Given the description of an element on the screen output the (x, y) to click on. 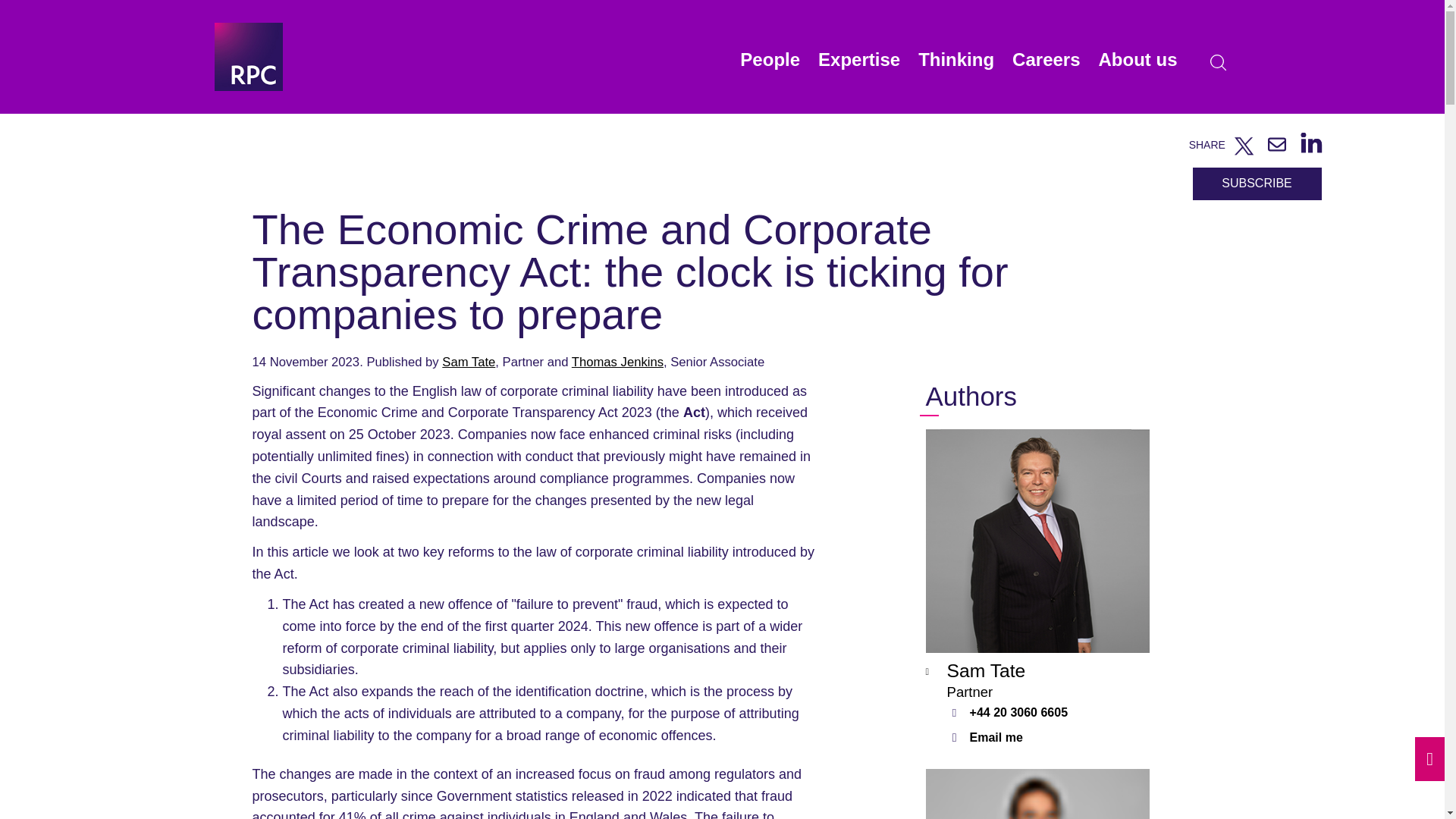
People (769, 66)
Careers (1046, 66)
Thinking (955, 66)
Expertise (858, 66)
